Given the description of an element on the screen output the (x, y) to click on. 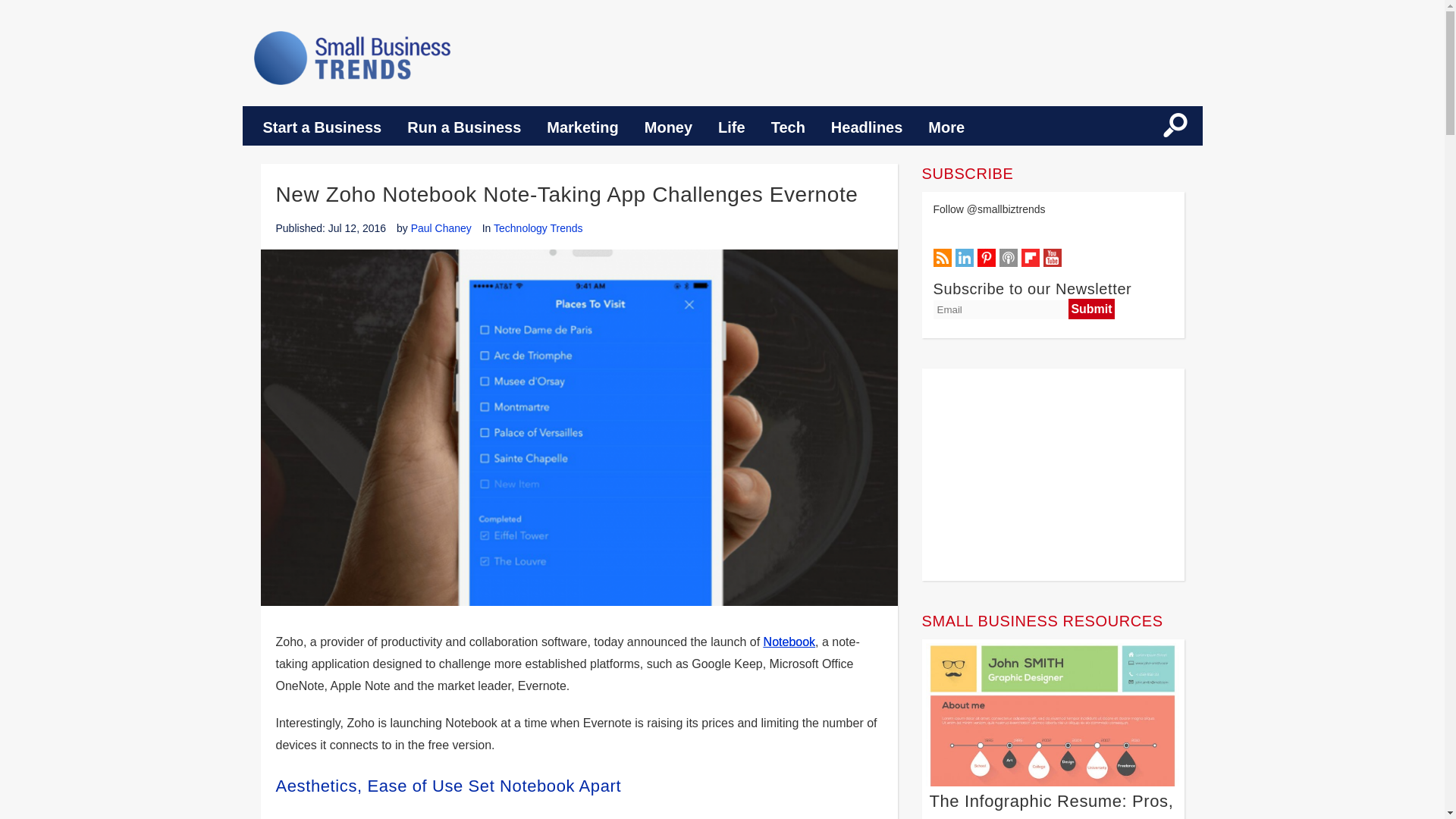
Tech (788, 127)
3rd party ad content (1052, 474)
Small Business Trends (351, 58)
3rd party ad content (929, 56)
Money (667, 127)
Headlines (866, 127)
View all articles in Technology Trends (538, 227)
Marketing (582, 127)
Run a Business (464, 127)
Start a Business (322, 127)
